Given the description of an element on the screen output the (x, y) to click on. 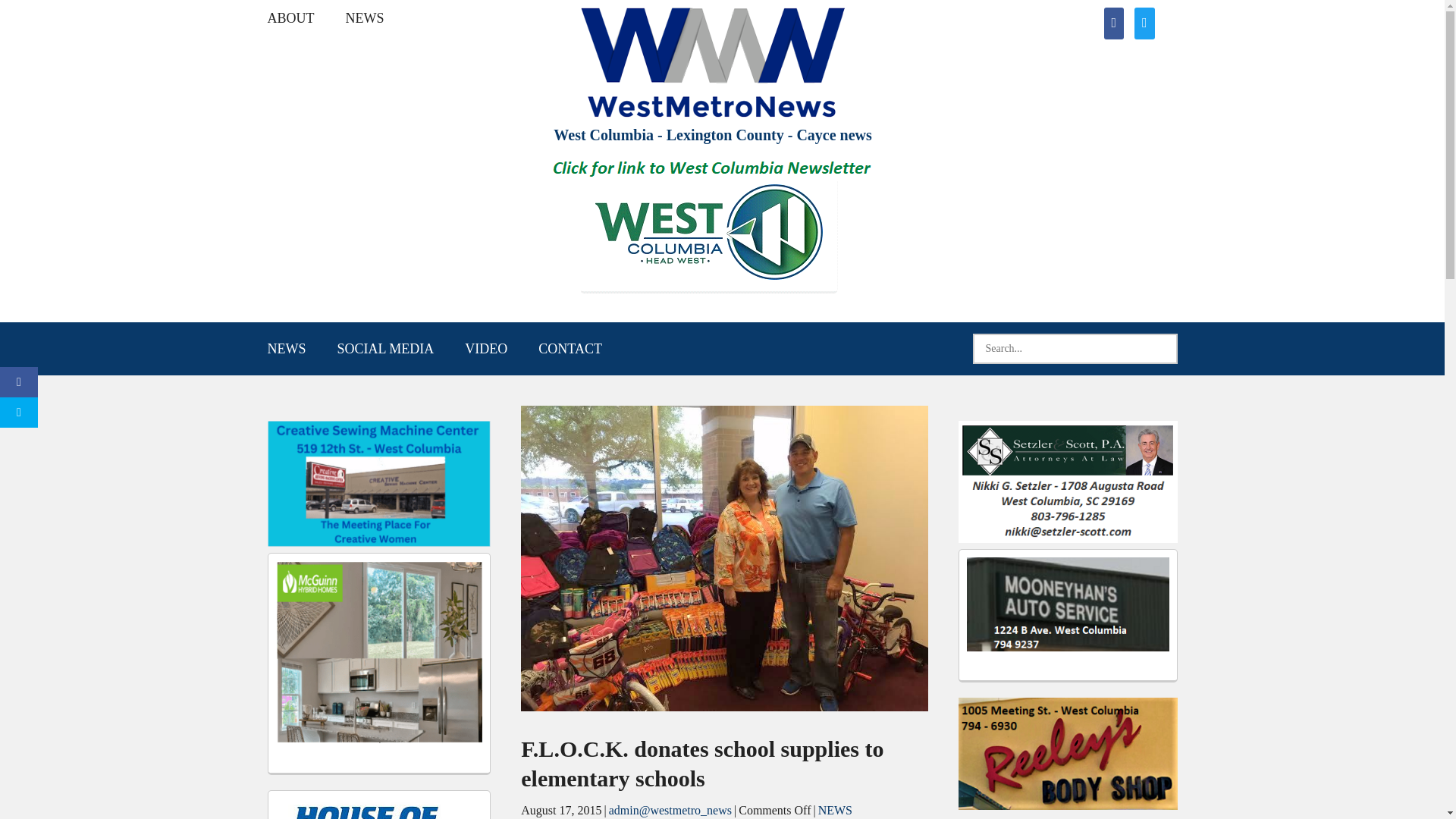
West Columbia - Lexington County - Cayce news (711, 134)
NEWS (285, 348)
NEWS (364, 18)
Logo (712, 62)
ABOUT (290, 18)
NEWS (834, 809)
VIDEO (485, 348)
SOCIAL MEDIA (384, 348)
CONTACT (569, 348)
ch2 (724, 557)
West Columbia - Lexington County - Cayce news (711, 134)
